Given the description of an element on the screen output the (x, y) to click on. 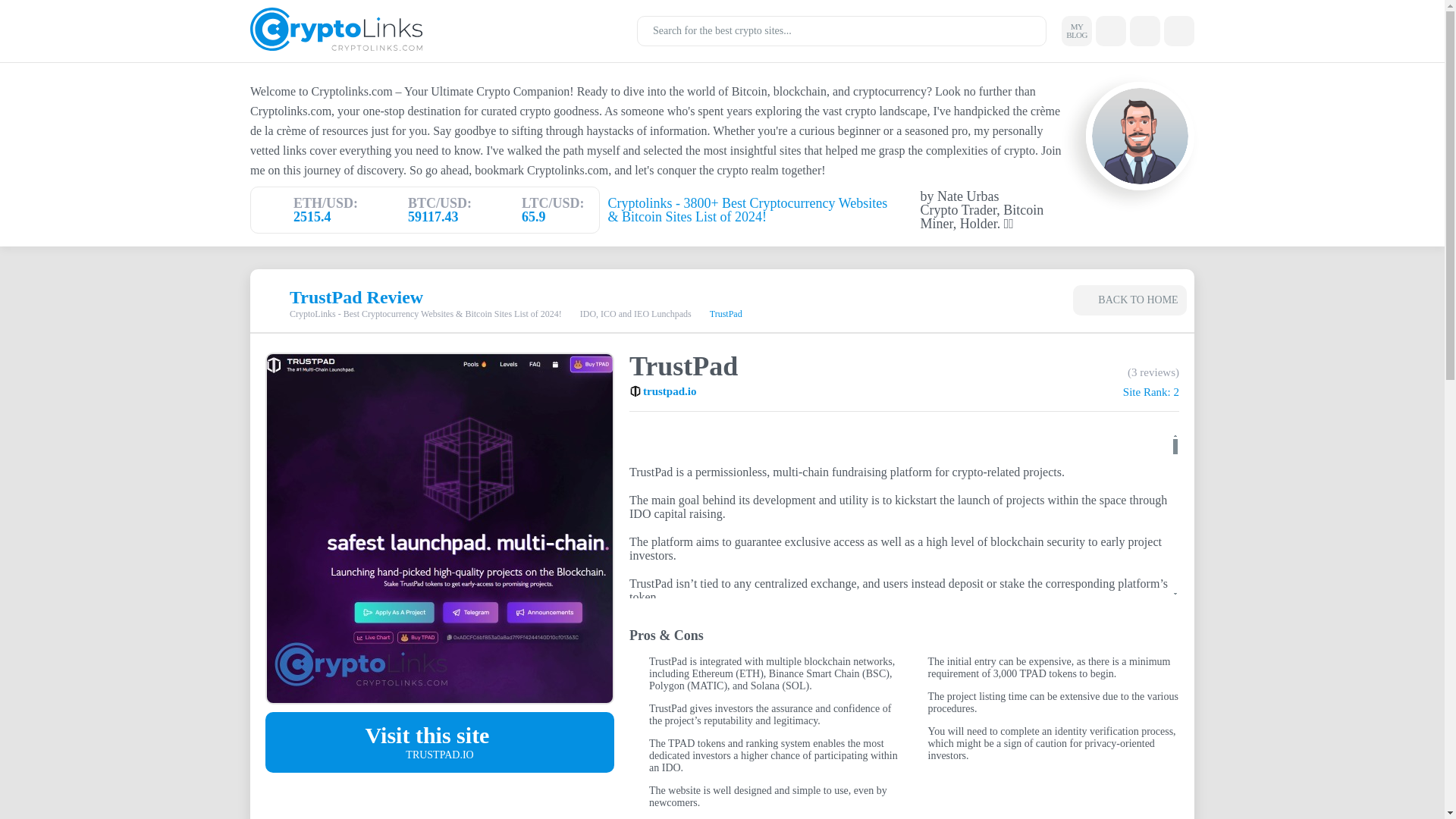
5 stars (1035, 371)
3 stars (1075, 371)
2 stars (1096, 371)
1 stars (1115, 371)
4 stars (1055, 371)
TrustPad (439, 527)
